Given the description of an element on the screen output the (x, y) to click on. 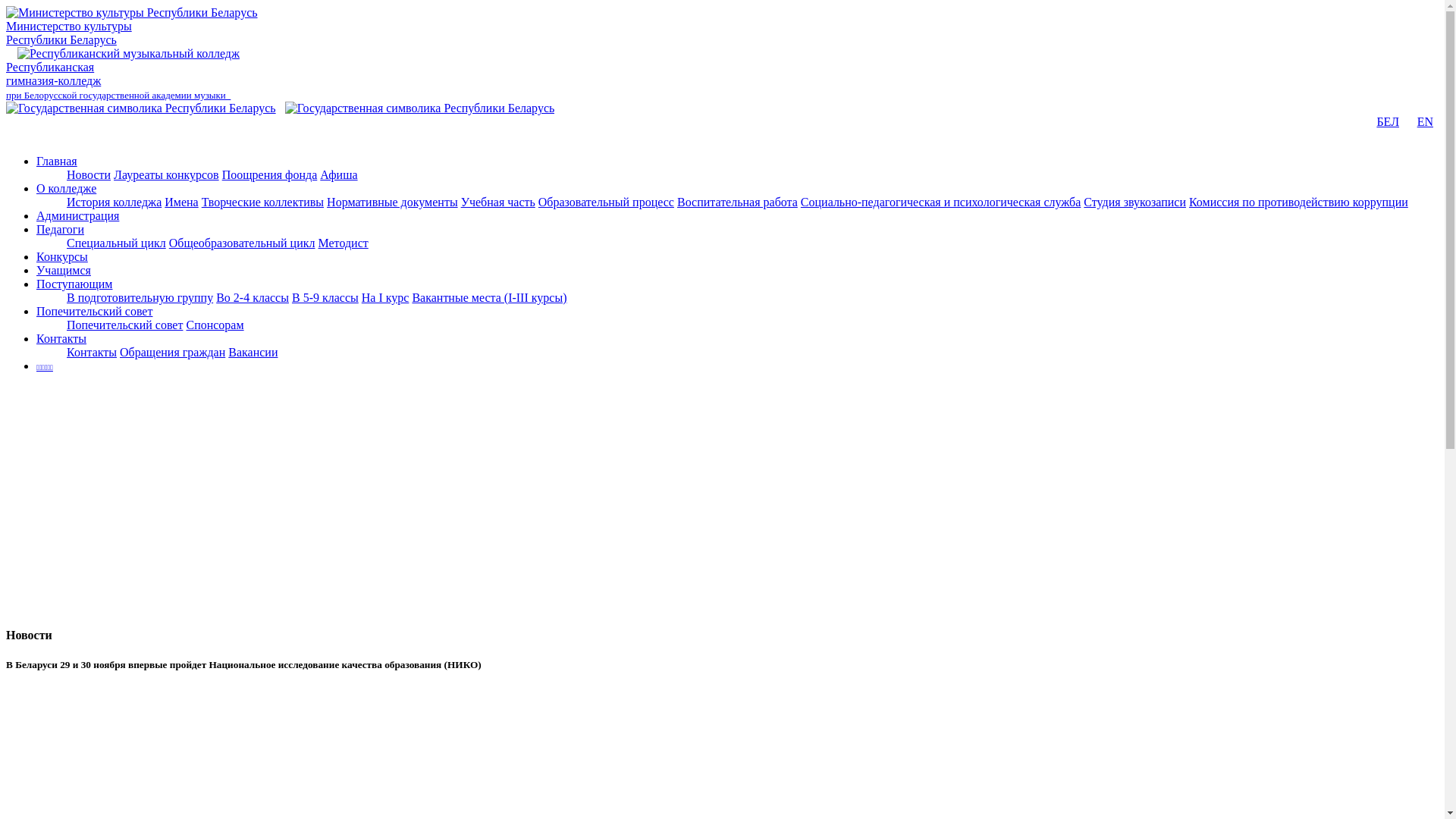
EN Element type: text (1430, 194)
